Given the description of an element on the screen output the (x, y) to click on. 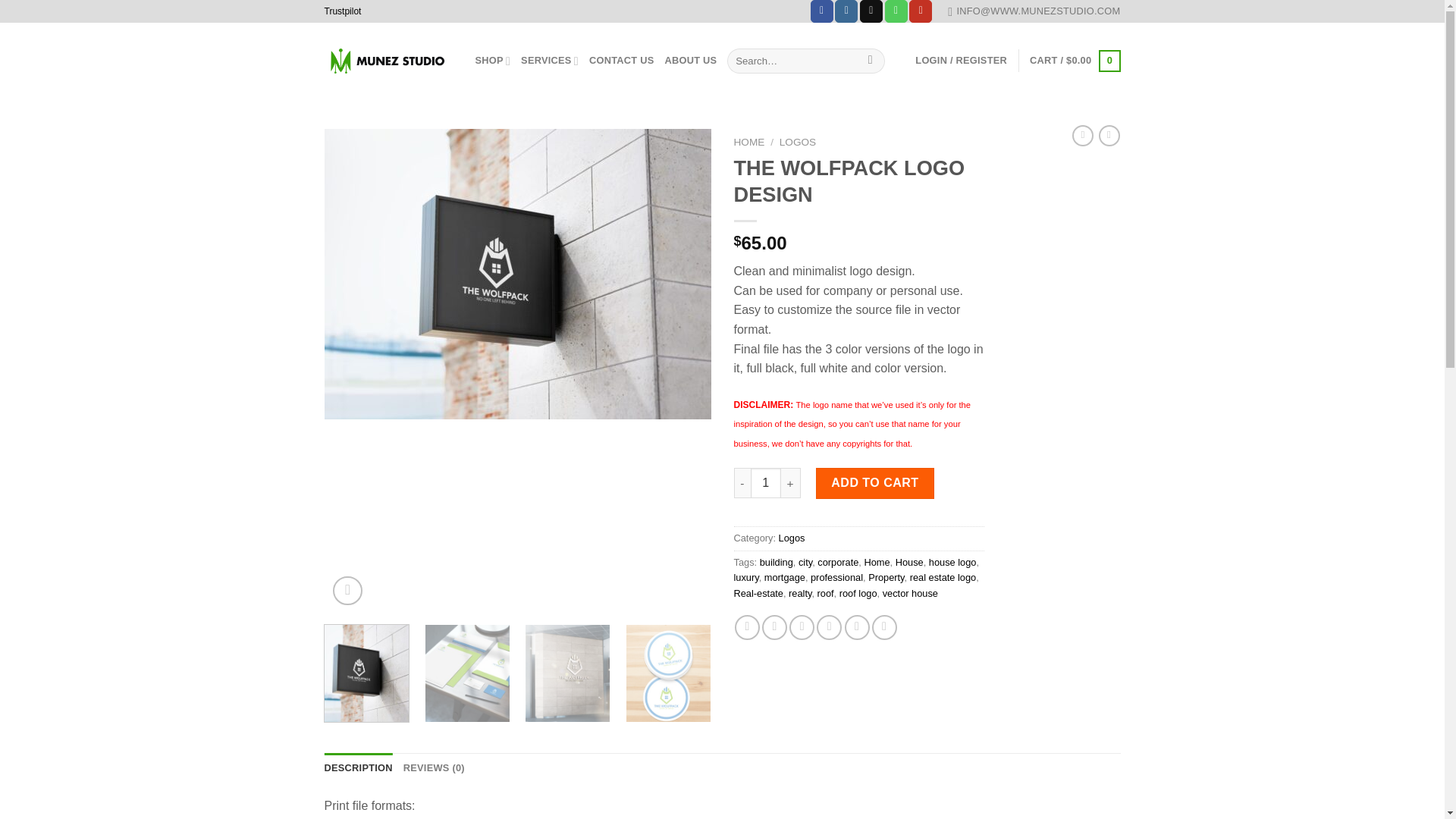
SERVICES (549, 60)
ABOUT US (689, 60)
Trustpilot (342, 10)
Cart (1074, 61)
Search (869, 61)
SHOP (492, 60)
Send us an email (871, 11)
1 (765, 482)
Zoom (347, 591)
CONTACT US (621, 60)
